Given the description of an element on the screen output the (x, y) to click on. 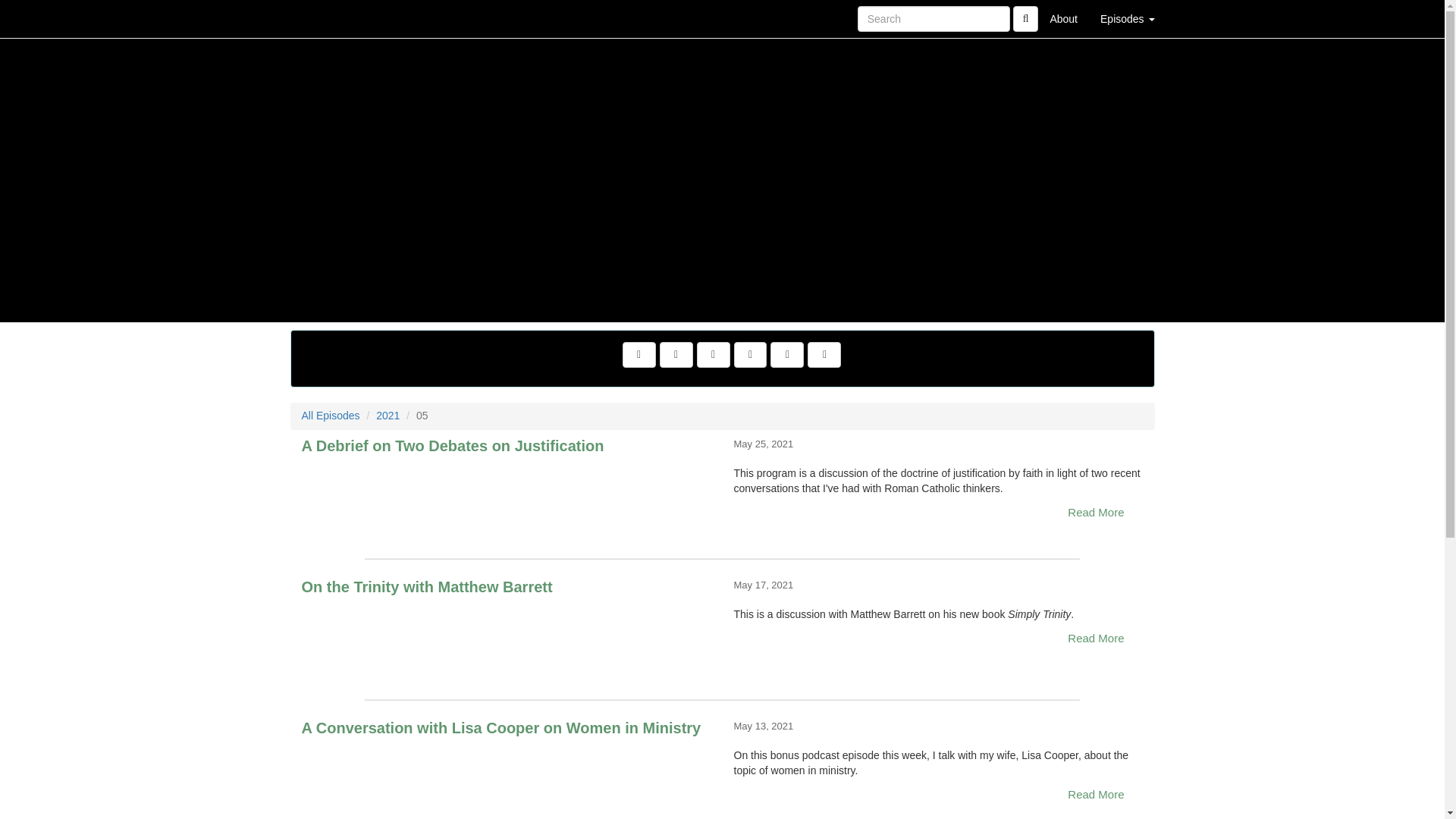
On the Trinity with Matthew Barrett (506, 632)
A Debrief on Two Debates on Justification (506, 491)
About (1063, 18)
Home Page (320, 18)
A Conversation with Lisa Cooper on Women in Ministry (506, 774)
Episodes (1127, 18)
